Given the description of an element on the screen output the (x, y) to click on. 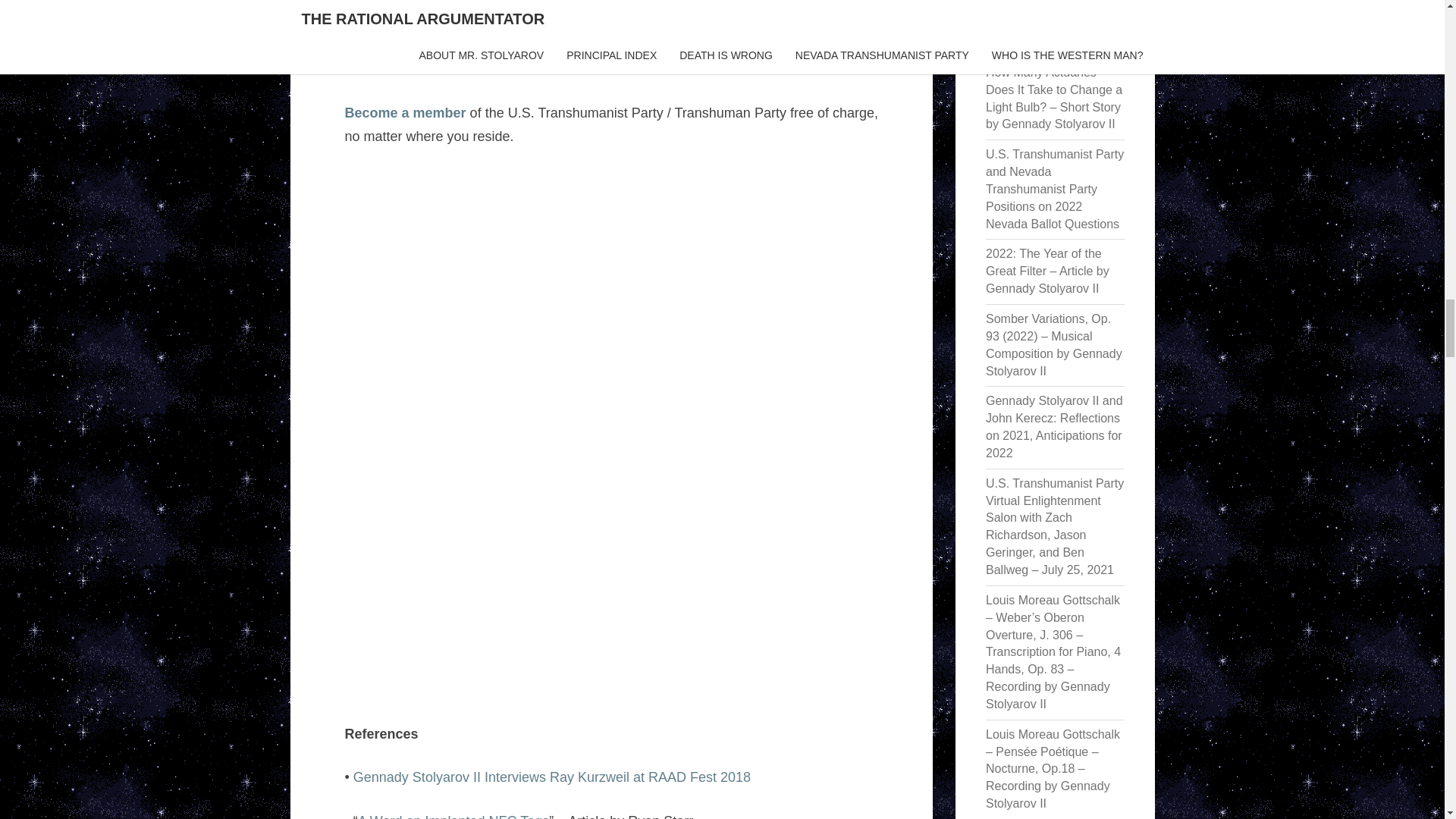
A Word on Implanted NFC Tags (453, 816)
Become a member (404, 112)
